Given the description of an element on the screen output the (x, y) to click on. 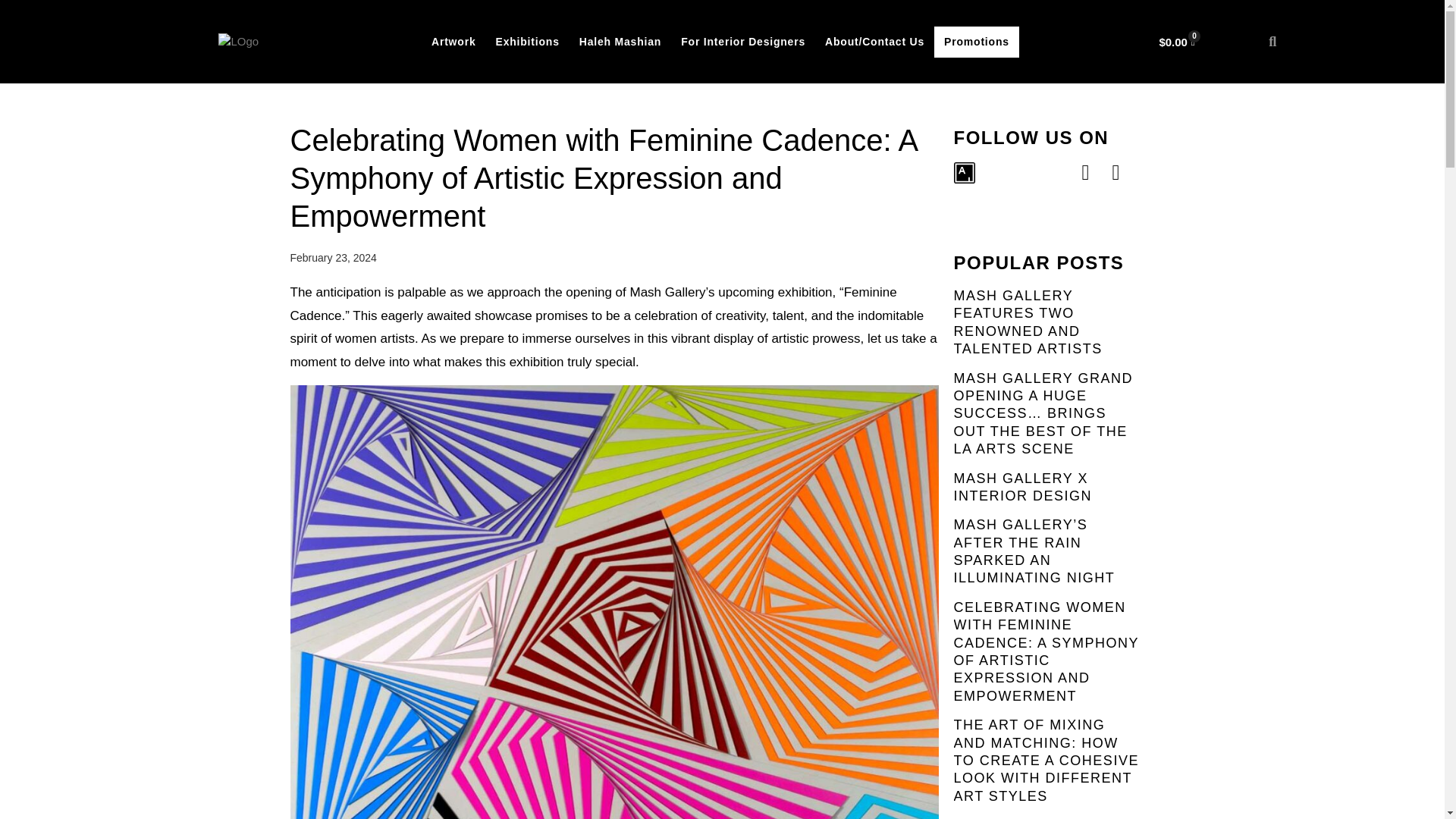
Artwork (454, 40)
Promotions (976, 40)
Exhibitions (526, 40)
Haleh Mashian (620, 40)
LOgo (238, 41)
For Interior Designers (743, 40)
